Given the description of an element on the screen output the (x, y) to click on. 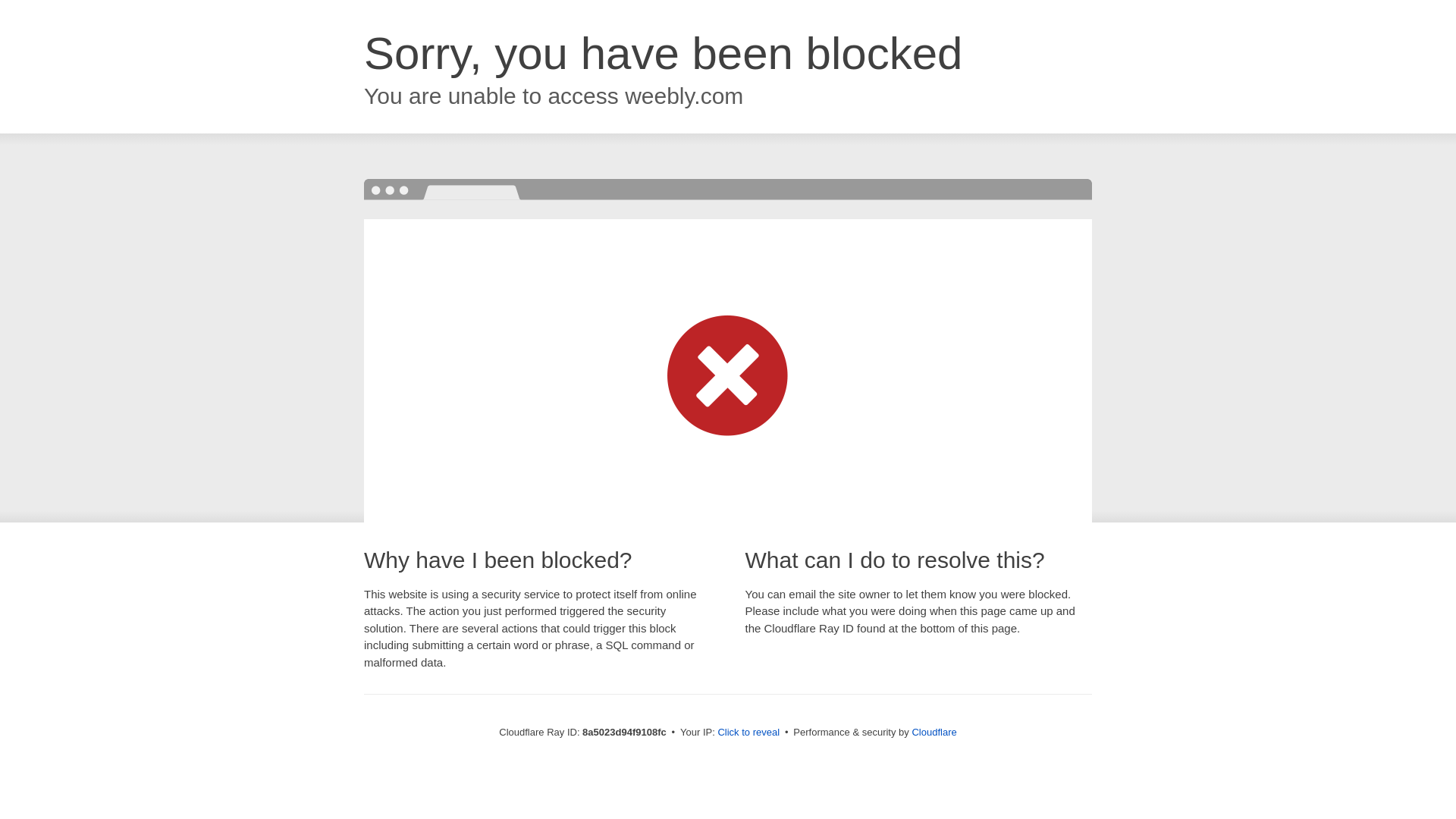
Cloudflare (933, 731)
Click to reveal (747, 732)
